Given the description of an element on the screen output the (x, y) to click on. 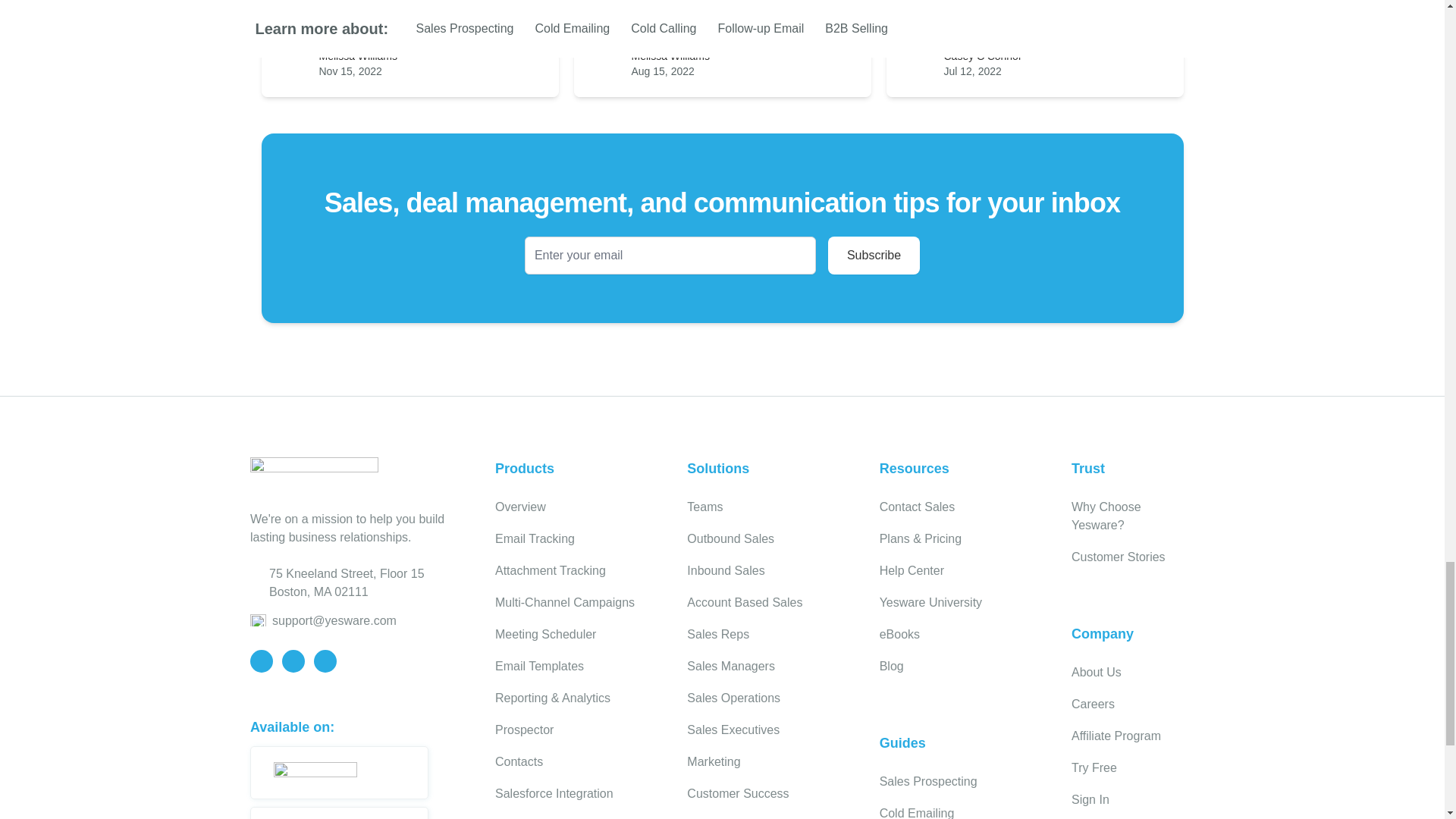
Email Tracking (535, 538)
Attachment Tracking (550, 570)
SPIN Selling: All-In-One Guide for 2022 (721, 18)
Overview (520, 506)
Subscribe (874, 255)
